Given the description of an element on the screen output the (x, y) to click on. 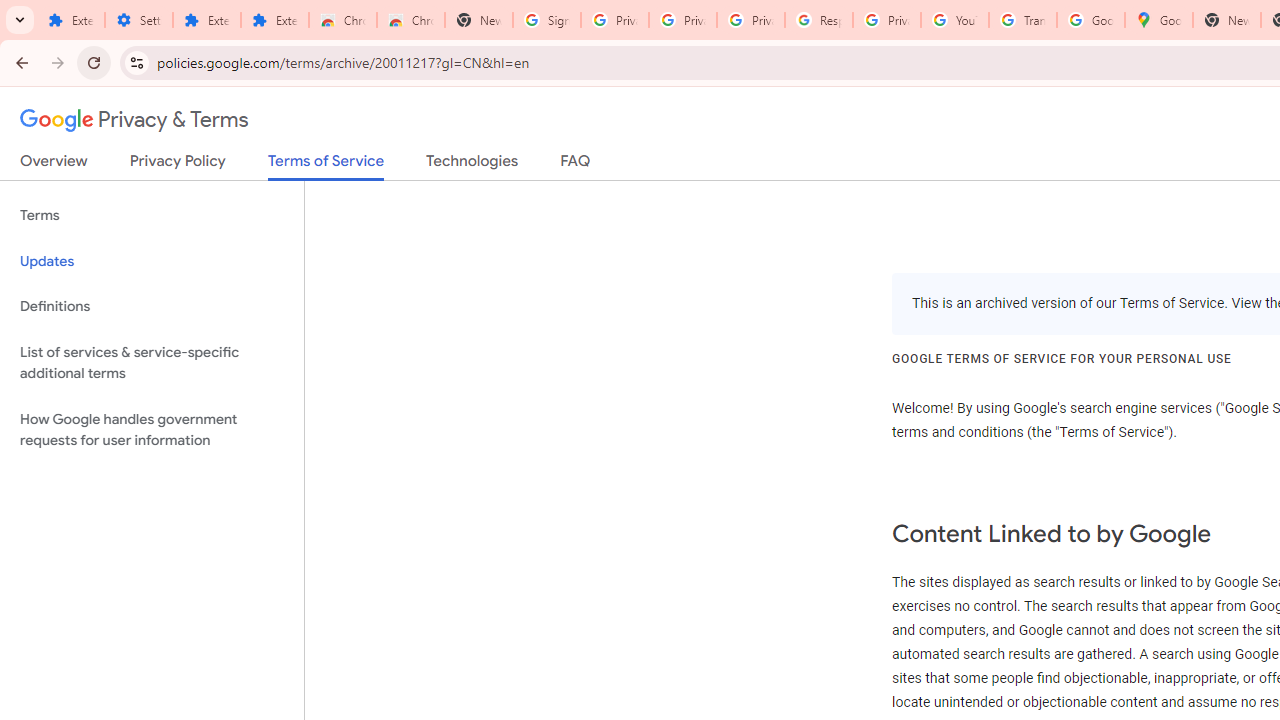
Chrome Web Store (342, 20)
Extensions (274, 20)
